Given the description of an element on the screen output the (x, y) to click on. 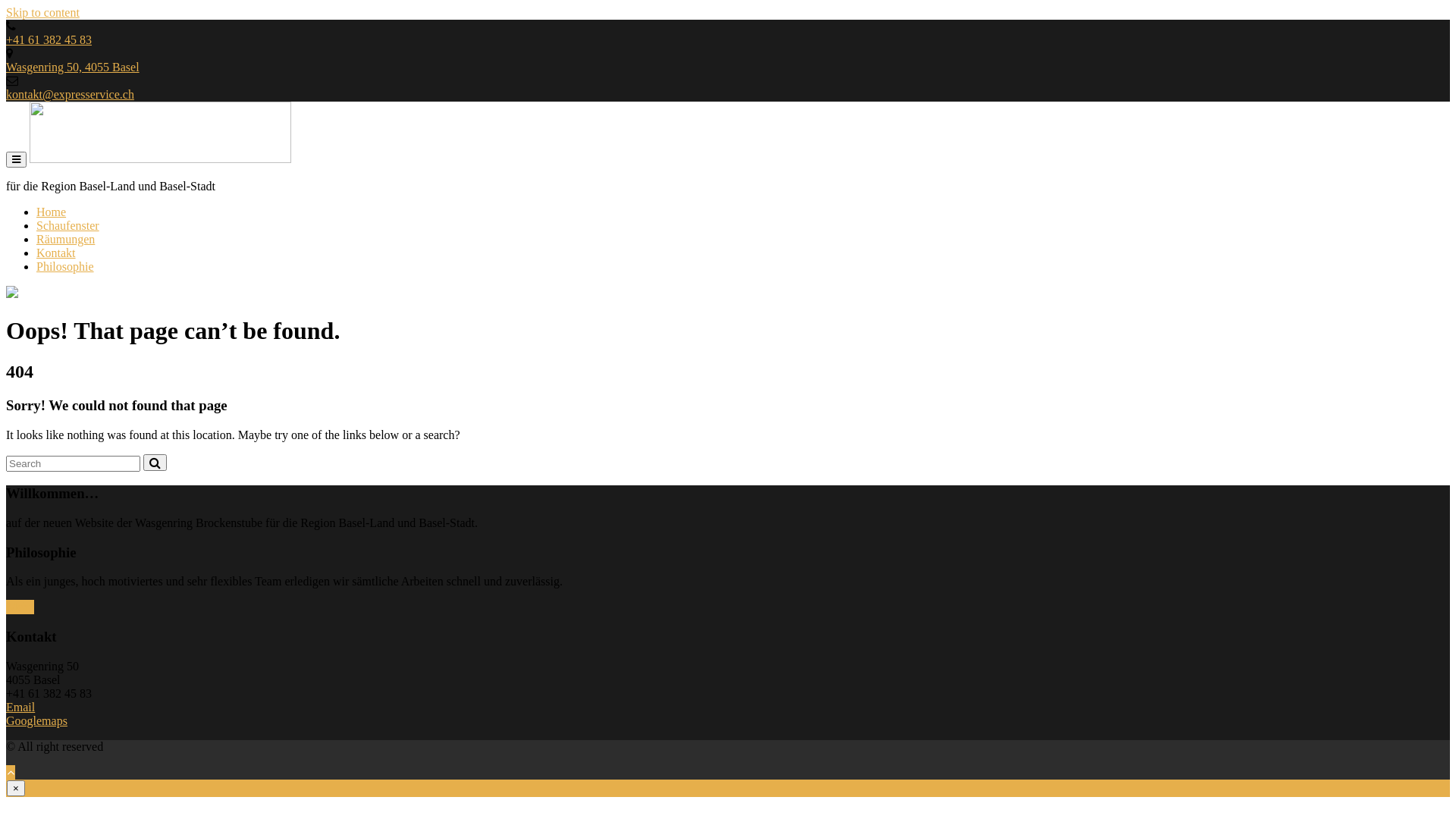
Kontakt Element type: text (55, 252)
kontakt@expresservice.ch Element type: text (70, 93)
+41 61 382 45 83 Element type: text (48, 39)
Wasgenring 50, 4055 Basel Element type: text (72, 66)
Home Element type: text (50, 211)
Skip to content Element type: text (42, 12)
Email Element type: text (20, 706)
Mehr Element type: text (20, 606)
Schaufenster Element type: text (67, 225)
Philosophie Element type: text (65, 266)
Googlemaps Element type: text (36, 720)
